Given the description of an element on the screen output the (x, y) to click on. 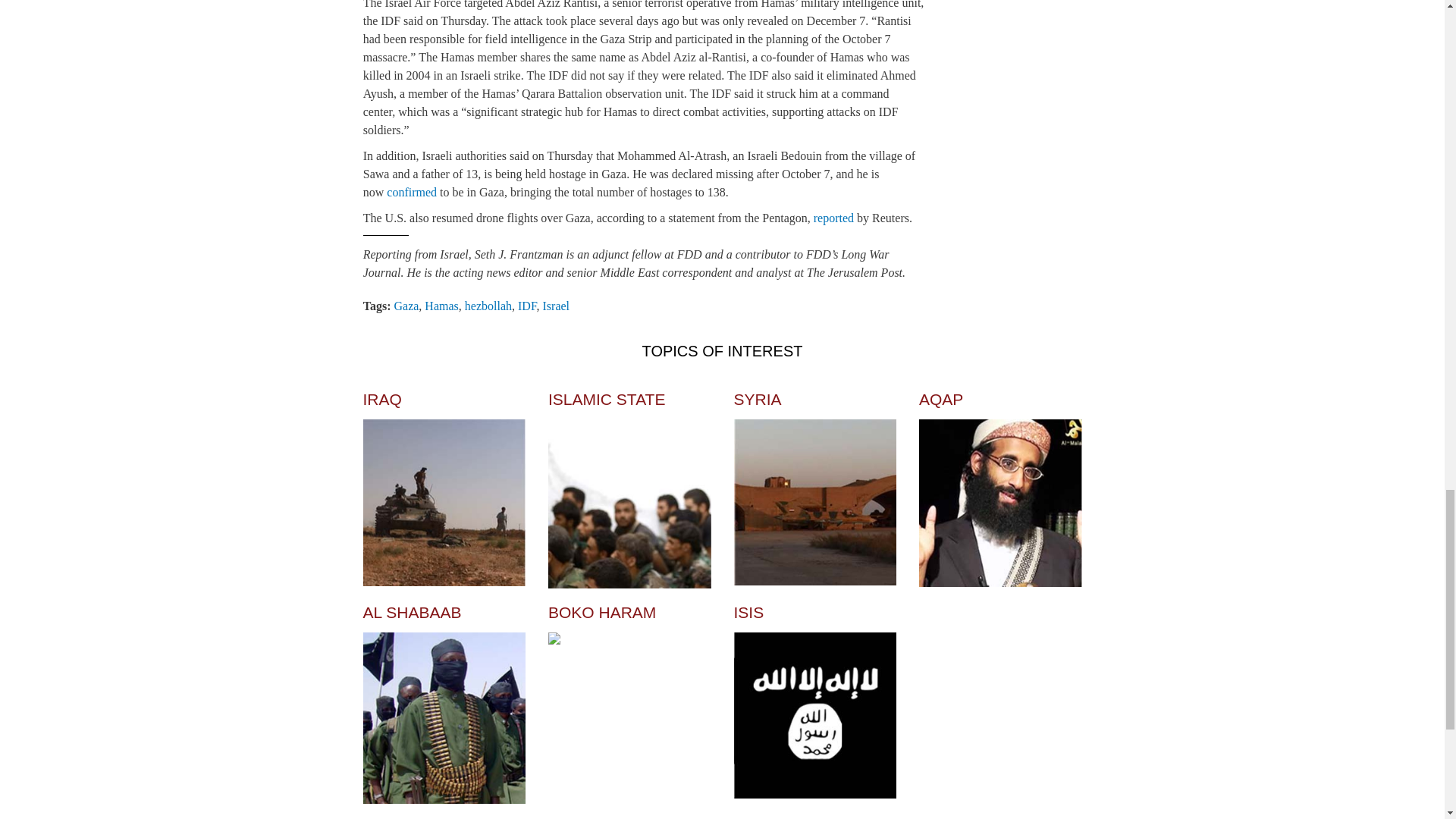
reported (833, 217)
confirmed (411, 192)
Gaza (406, 305)
Israel (556, 305)
hezbollah (488, 305)
Hamas (441, 305)
IDF (527, 305)
